Given the description of an element on the screen output the (x, y) to click on. 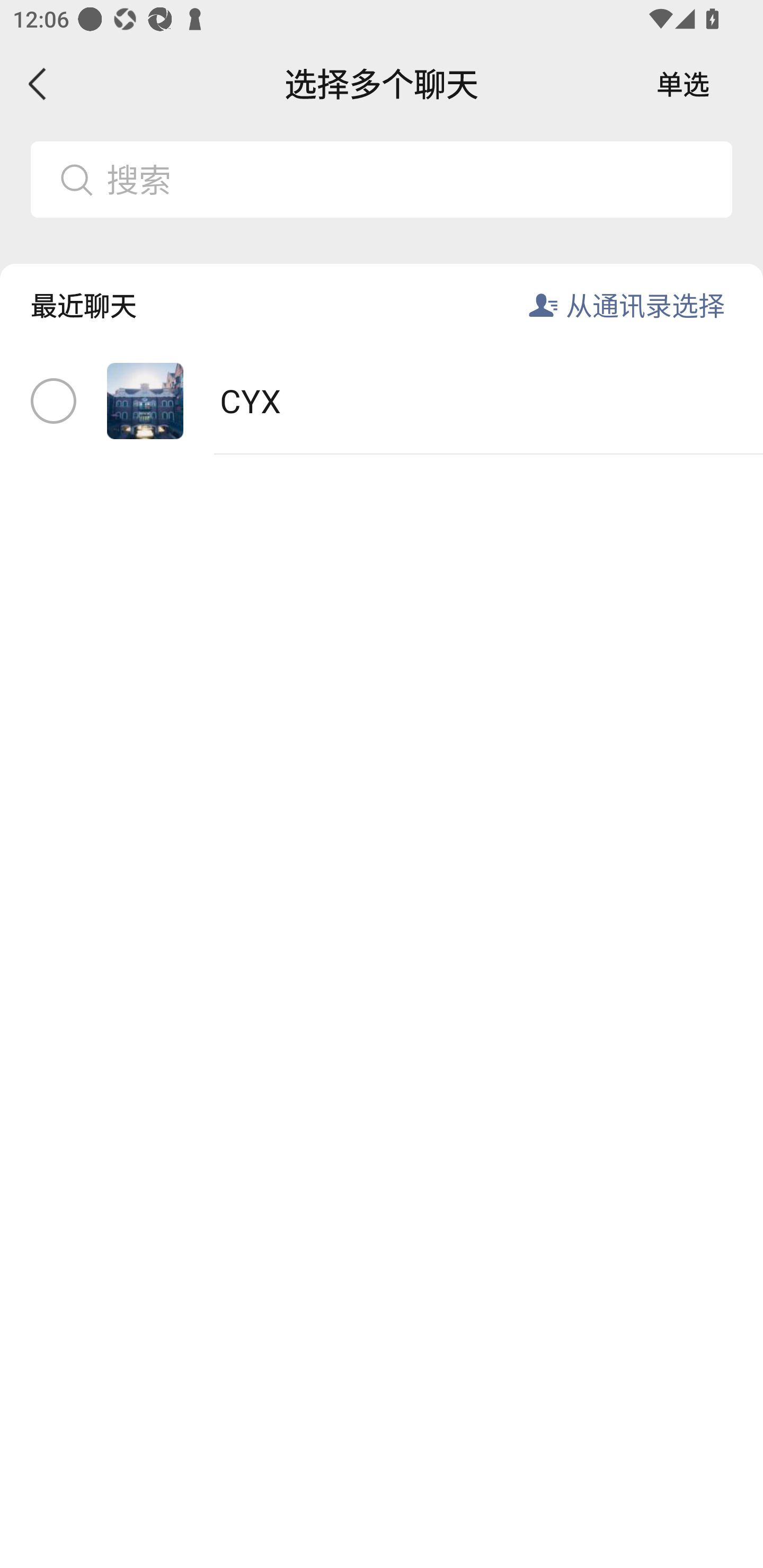
返回 (38, 83)
单选 (683, 83)
搜索 (411, 179)
从通讯录选择 (645, 304)
CYX (381, 401)
